Given the description of an element on the screen output the (x, y) to click on. 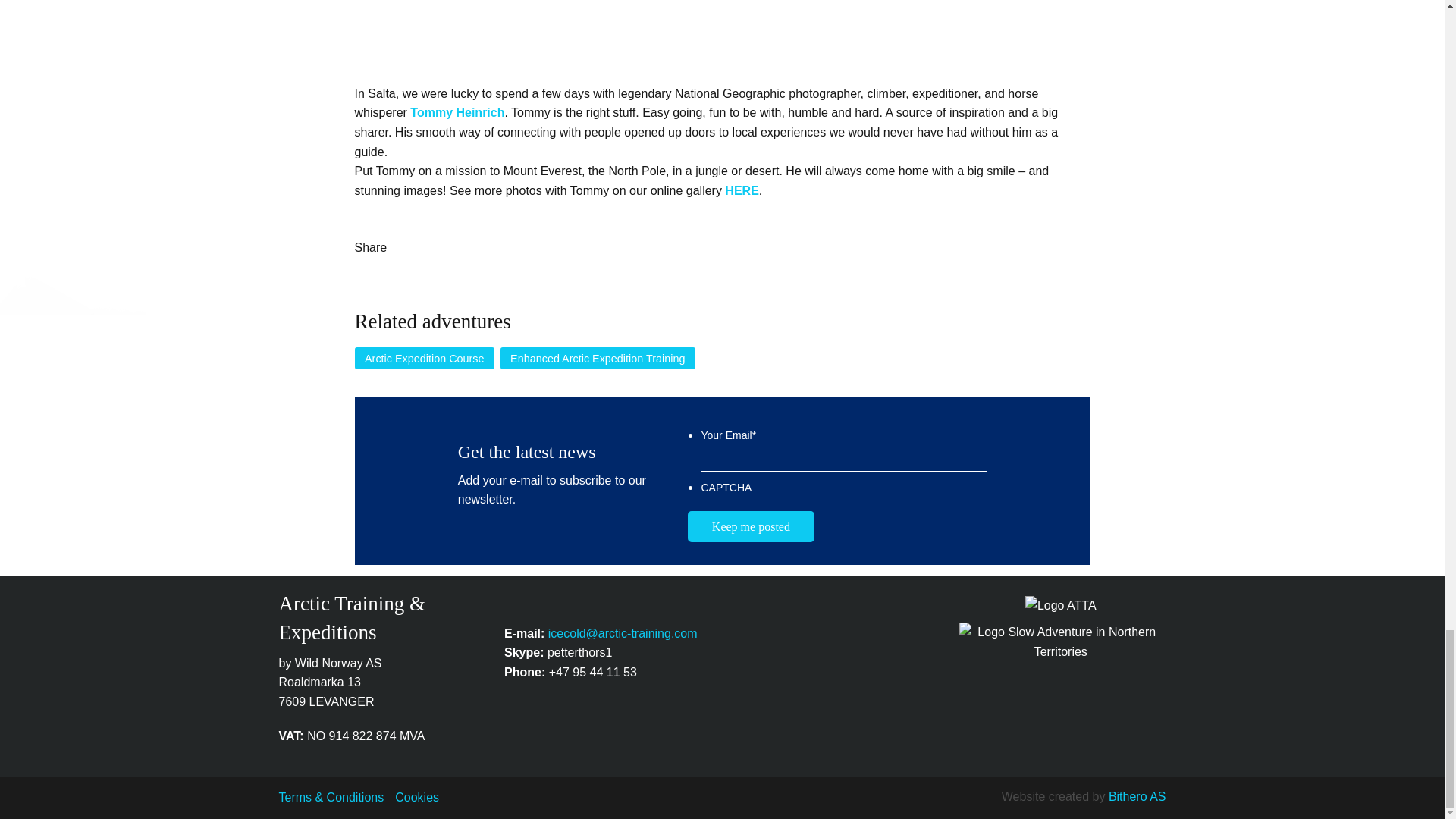
Keep me posted (750, 526)
Bithero AS (1137, 796)
Tommy Heinrich (456, 112)
Enhanced Arctic Expedition Training (597, 358)
HERE (741, 190)
Keep me posted (750, 526)
Arctic Expedition Course (425, 358)
Cookies (416, 797)
